Given the description of an element on the screen output the (x, y) to click on. 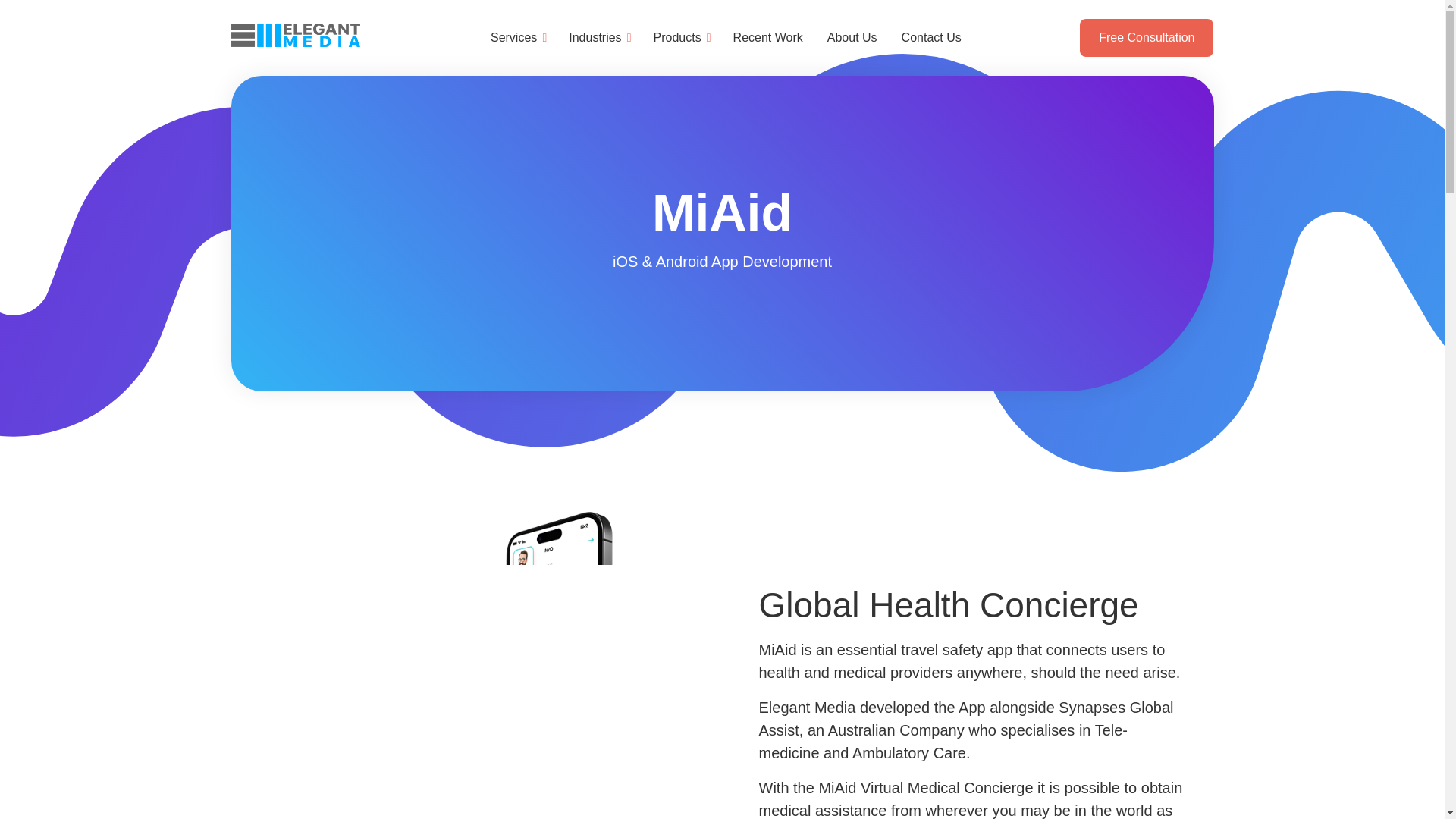
Products (681, 37)
Industries (598, 37)
Services (517, 37)
